Given the description of an element on the screen output the (x, y) to click on. 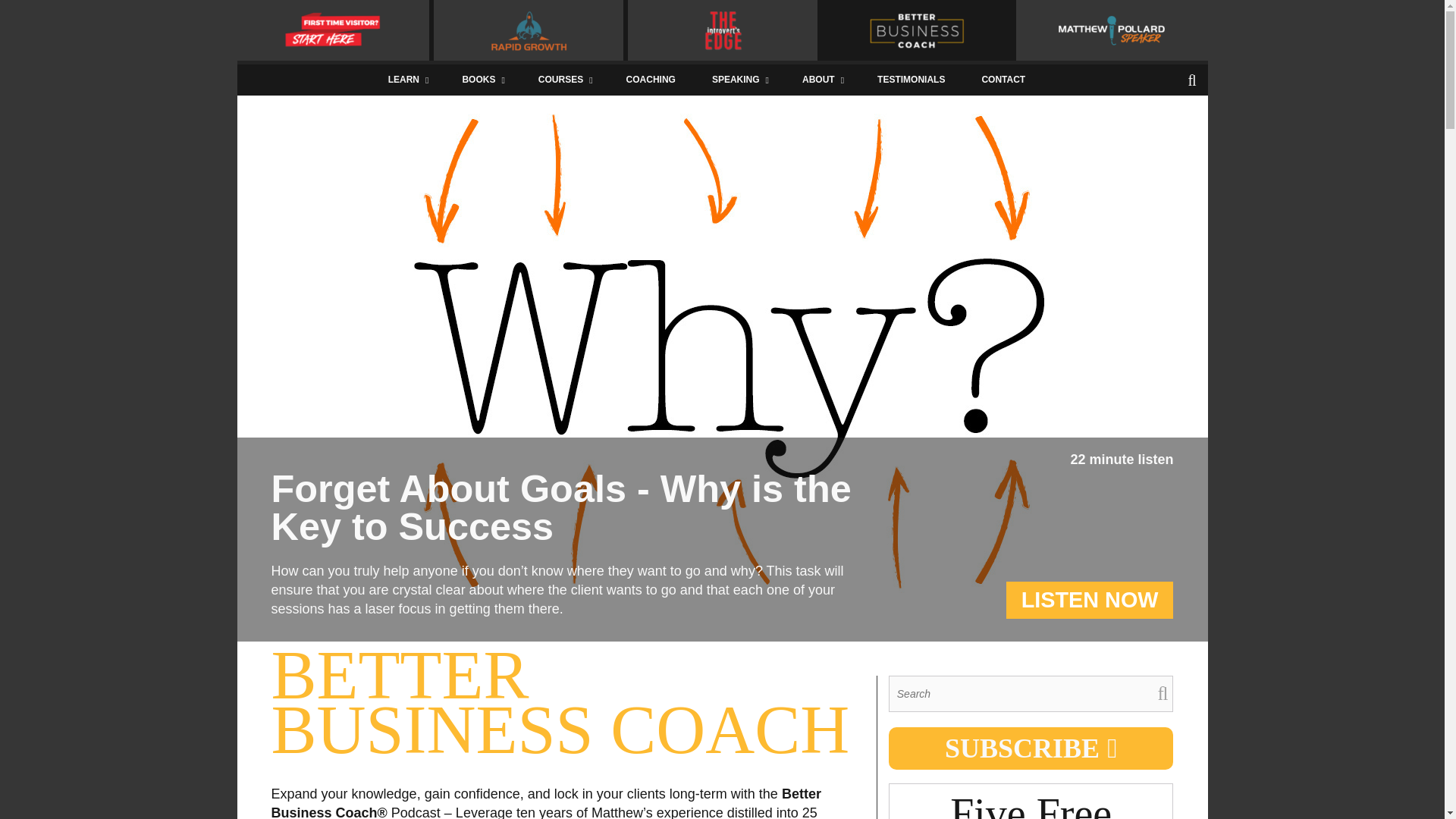
BOOKS (481, 80)
LEARN (406, 80)
